Given the description of an element on the screen output the (x, y) to click on. 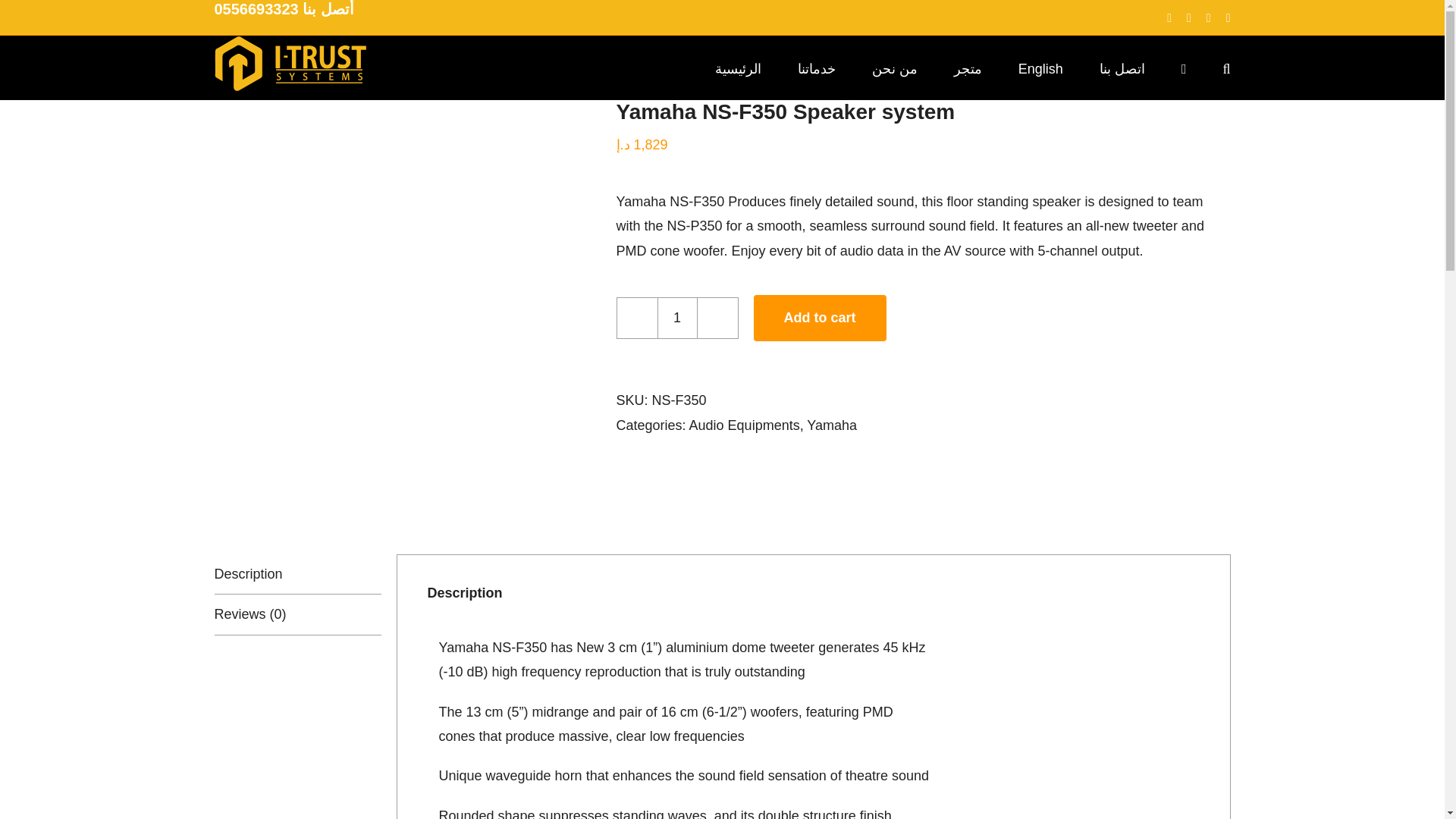
Tiktok (1169, 18)
Pinterest (1227, 18)
Pinterest (1227, 18)
Search (1226, 67)
Twitter (1188, 18)
1 (676, 318)
Twitter (1188, 18)
English (1039, 67)
Tiktok (1169, 18)
Instagram (1209, 18)
Instagram (1209, 18)
